Given the description of an element on the screen output the (x, y) to click on. 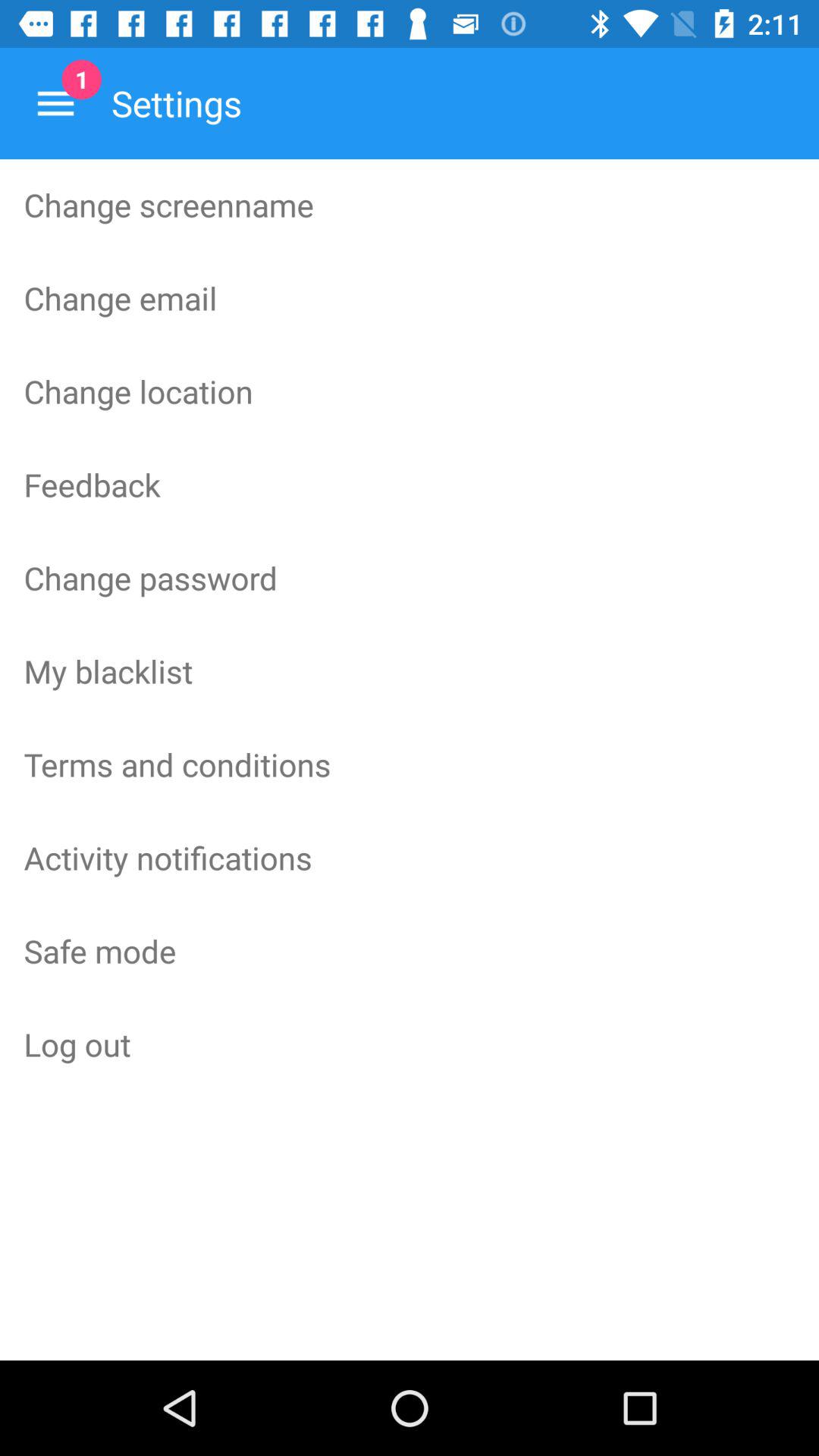
scroll until the change location icon (409, 390)
